Given the description of an element on the screen output the (x, y) to click on. 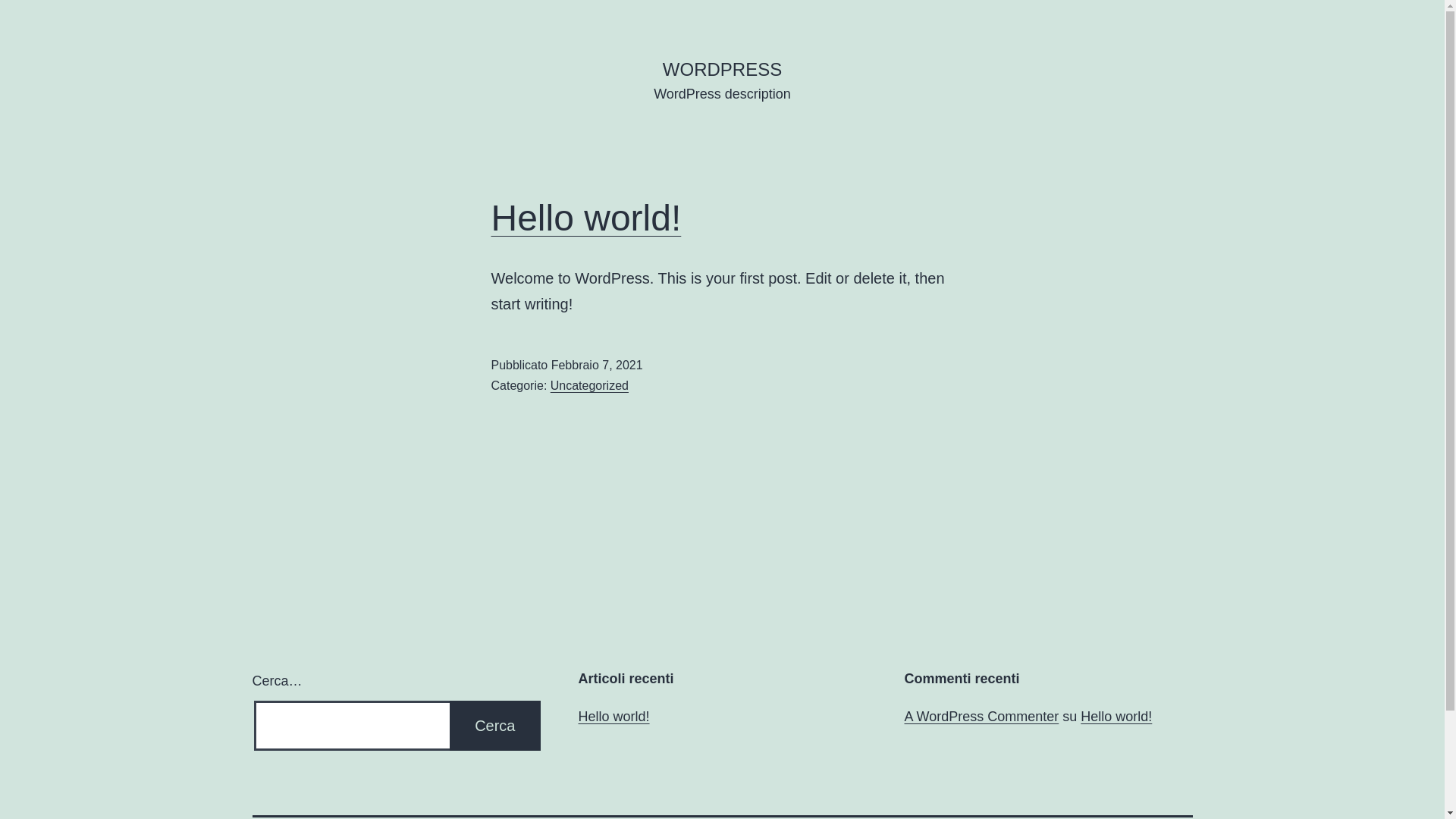
Uncategorized Element type: text (589, 385)
Hello world! Element type: text (613, 716)
Hello world! Element type: text (1115, 716)
Cerca Element type: text (494, 725)
Hello world! Element type: text (586, 217)
A WordPress Commenter Element type: text (980, 716)
